Given the description of an element on the screen output the (x, y) to click on. 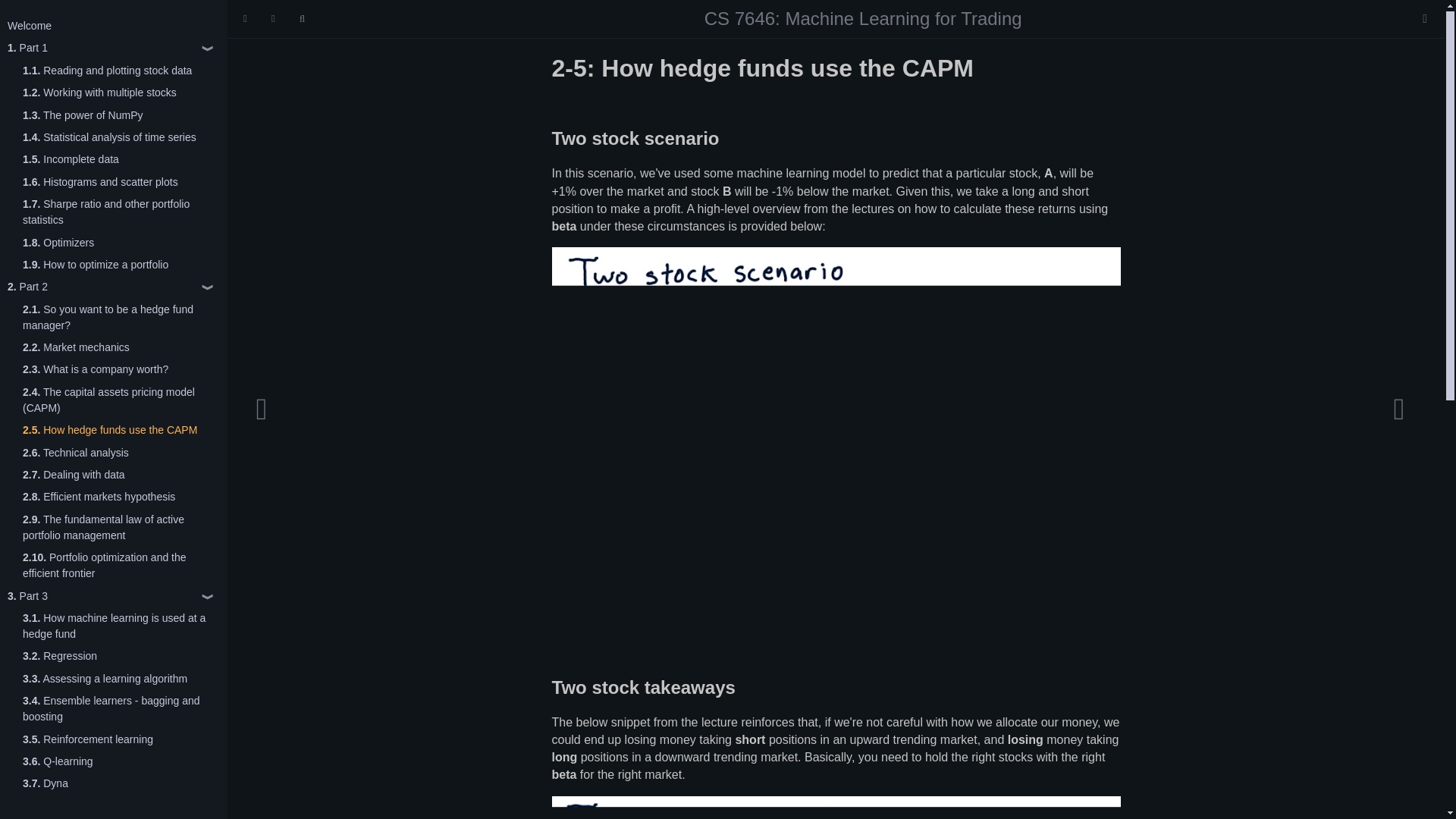
1.4. Statistical analysis of time series (109, 137)
Print this book (1424, 18)
3.2. Regression (60, 656)
3.3. Assessing a learning algorithm (105, 678)
1.2. Working with multiple stocks (99, 92)
2.1. So you want to be a hedge fund manager? (121, 317)
2. Part 2 (27, 286)
2.5. How hedge funds use the CAPM (109, 430)
1. Part 1 (27, 48)
1.6. Histograms and scatter plots (100, 182)
